Given the description of an element on the screen output the (x, y) to click on. 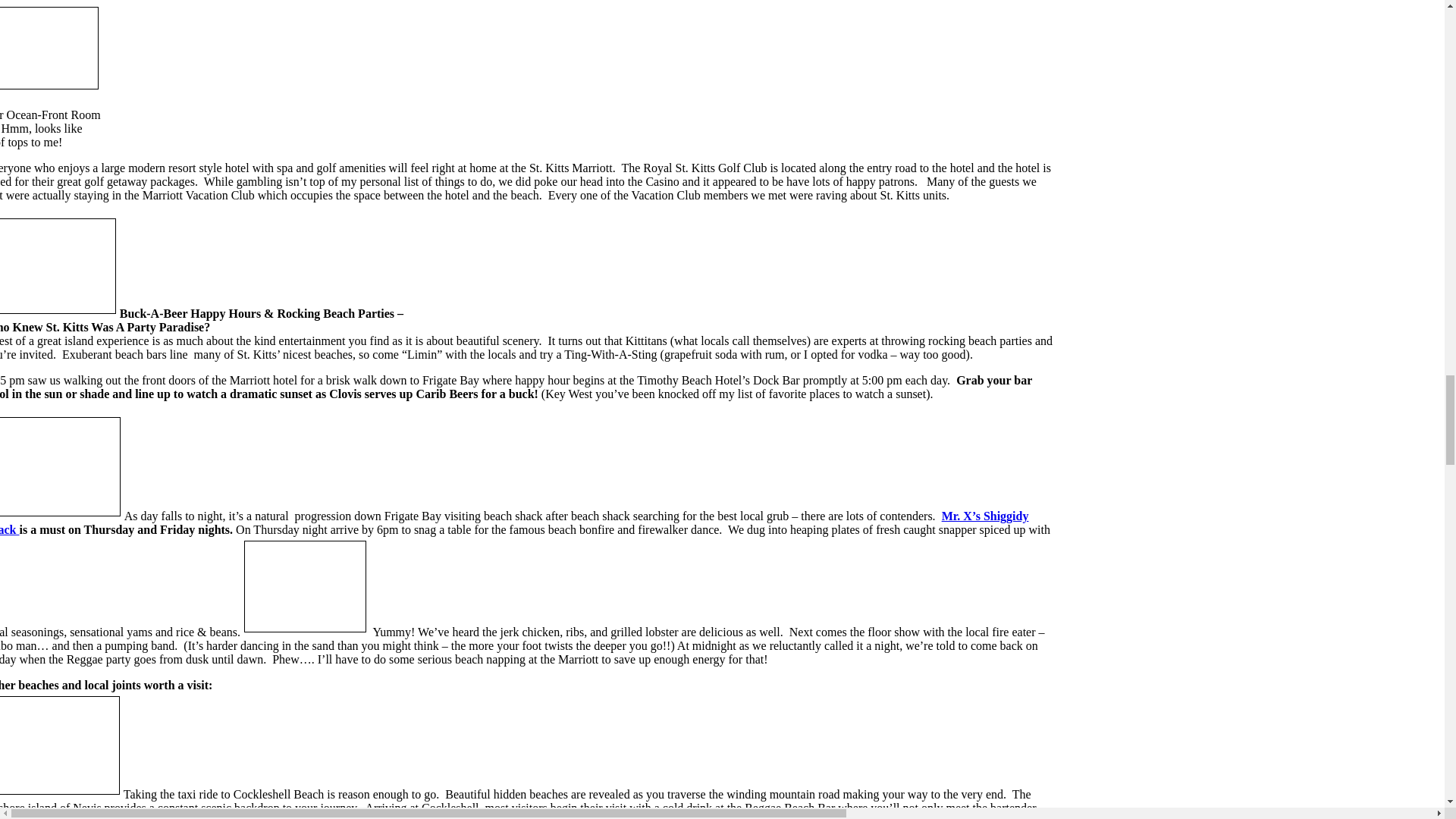
St. Kitts Marriott Vacation Club (49, 47)
Reggae Beach Bar Cockle Shell Beach (58, 265)
Fire Limbo Show (305, 586)
Fun at Shiggidy Shack (60, 466)
Mr X's Shiggidy Shack (514, 522)
